Given the description of an element on the screen output the (x, y) to click on. 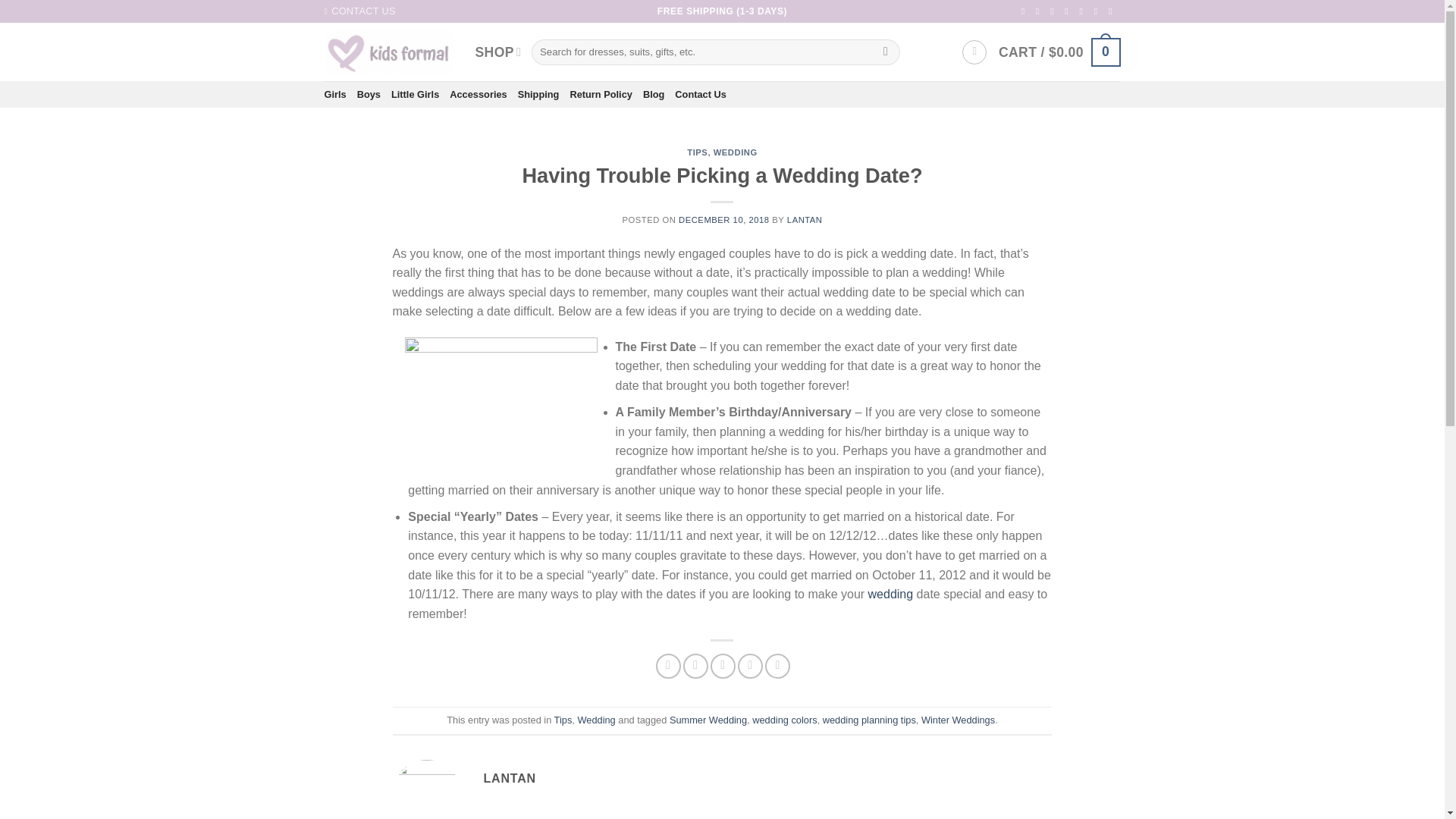
Share on Facebook (668, 665)
Search (885, 52)
Little Girls (415, 94)
CONTACT US (360, 11)
SHOP (497, 51)
Boys (368, 94)
Cart (1059, 51)
